Given the description of an element on the screen output the (x, y) to click on. 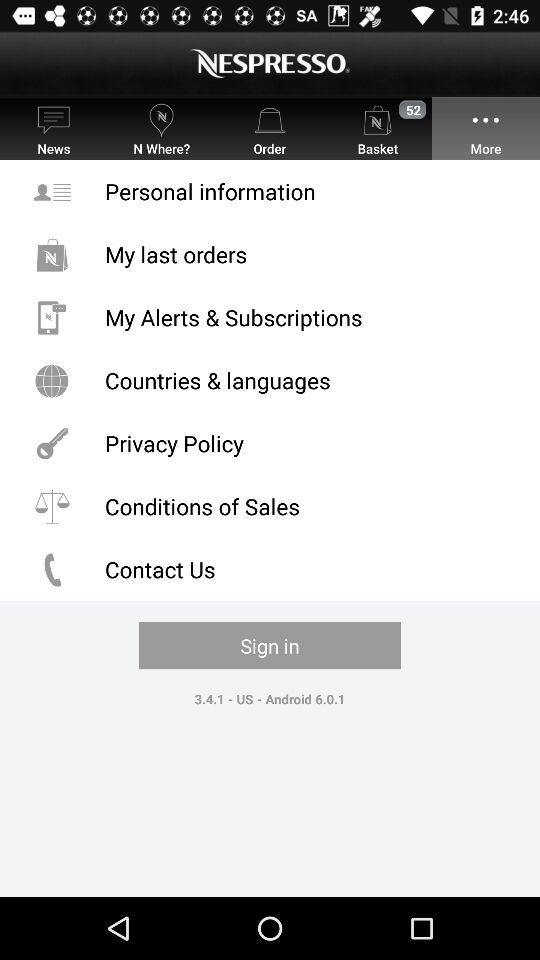
press the item above the sign in icon (270, 569)
